Given the description of an element on the screen output the (x, y) to click on. 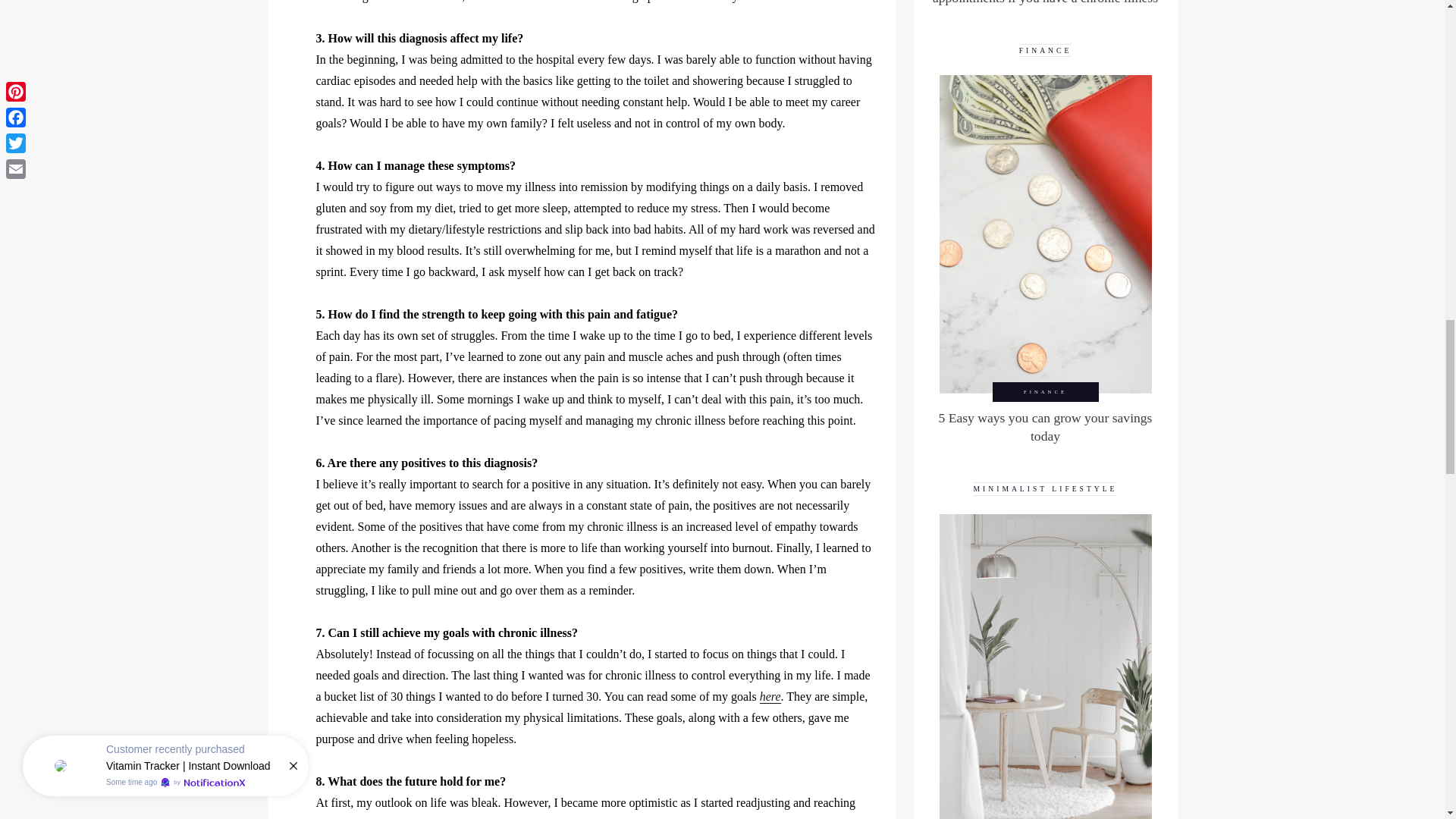
here (770, 696)
